Given the description of an element on the screen output the (x, y) to click on. 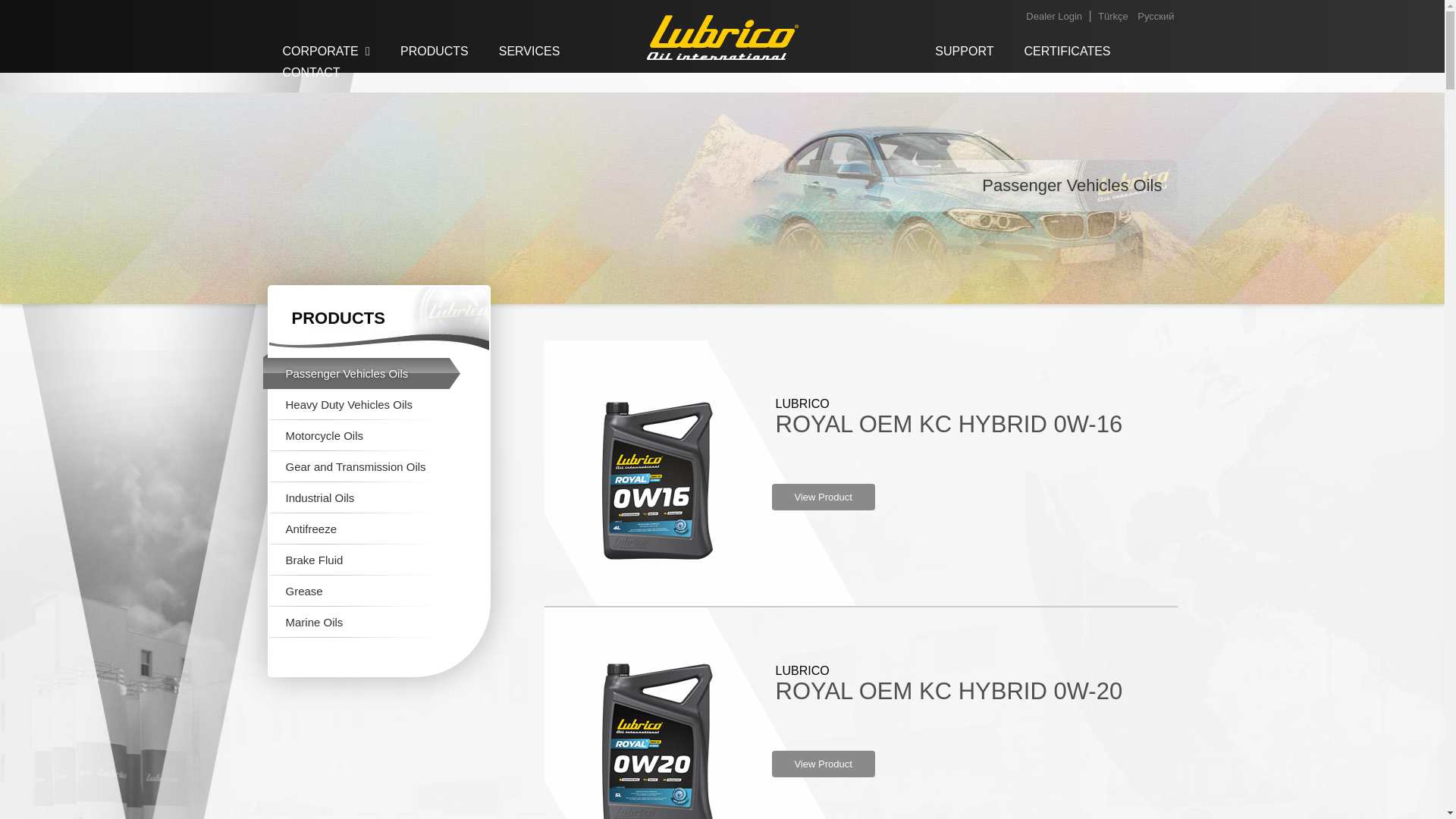
ROYAL OEM KC HYBRID 0W-16 (948, 424)
Industrial Oils (361, 497)
Heavy Duty Vehicles Oils (361, 404)
View Product (823, 497)
Motorcycle Oils (361, 435)
SERVICES (529, 51)
Marine Oils (361, 622)
Dealer Login (1053, 16)
Antifreeze (361, 528)
ROYAL OEM KC HYBRID 0W-20 (948, 691)
